Given the description of an element on the screen output the (x, y) to click on. 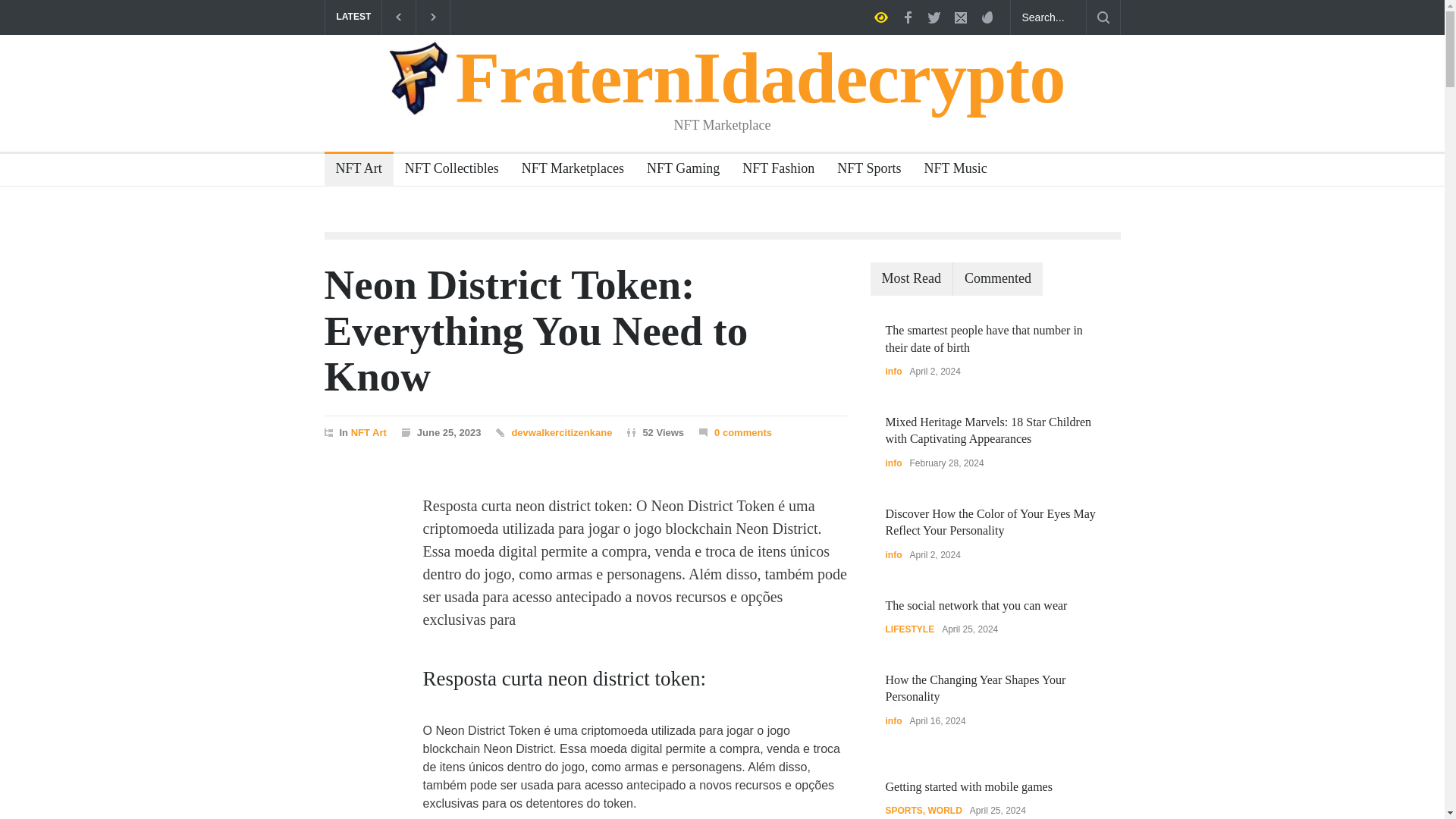
FraternIdadecrypto (722, 78)
NFT Collectibles (446, 169)
Neon District Token: Everything You Need to Know (536, 330)
Search... (1048, 17)
NFT Gaming (676, 169)
Search... (1048, 17)
NFT Marketplaces (567, 169)
NFT Sports (863, 169)
